Given the description of an element on the screen output the (x, y) to click on. 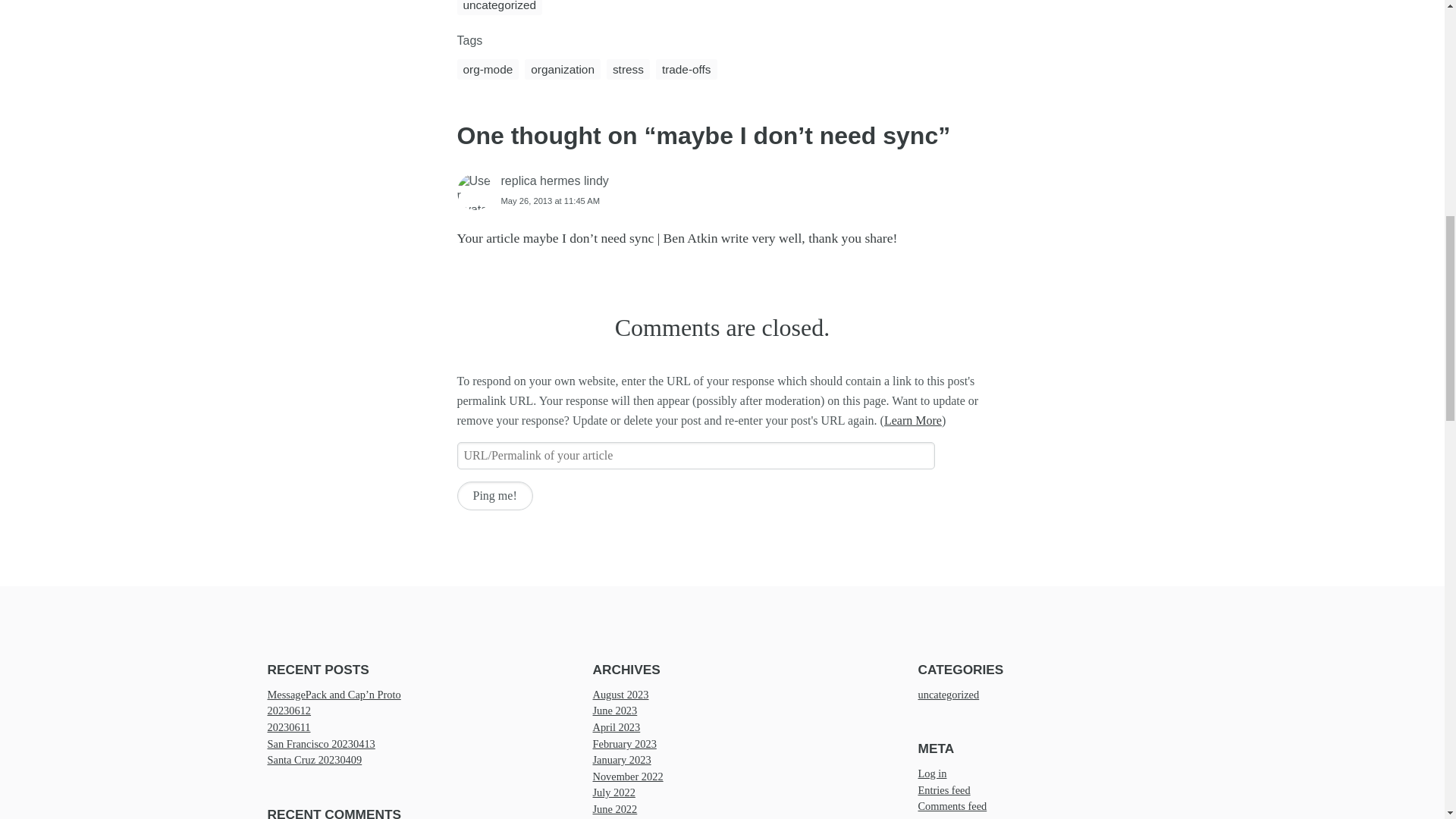
Santa Cruz 20230409 (313, 759)
June 2023 (614, 711)
uncategorized (499, 7)
replica hermes lindy (554, 180)
20230612 (288, 711)
stress (628, 68)
Ping me! (494, 495)
org-mode (487, 68)
San Francisco 20230413 (320, 743)
May 26, 2013 at 11:45 AM (549, 199)
